Given the description of an element on the screen output the (x, y) to click on. 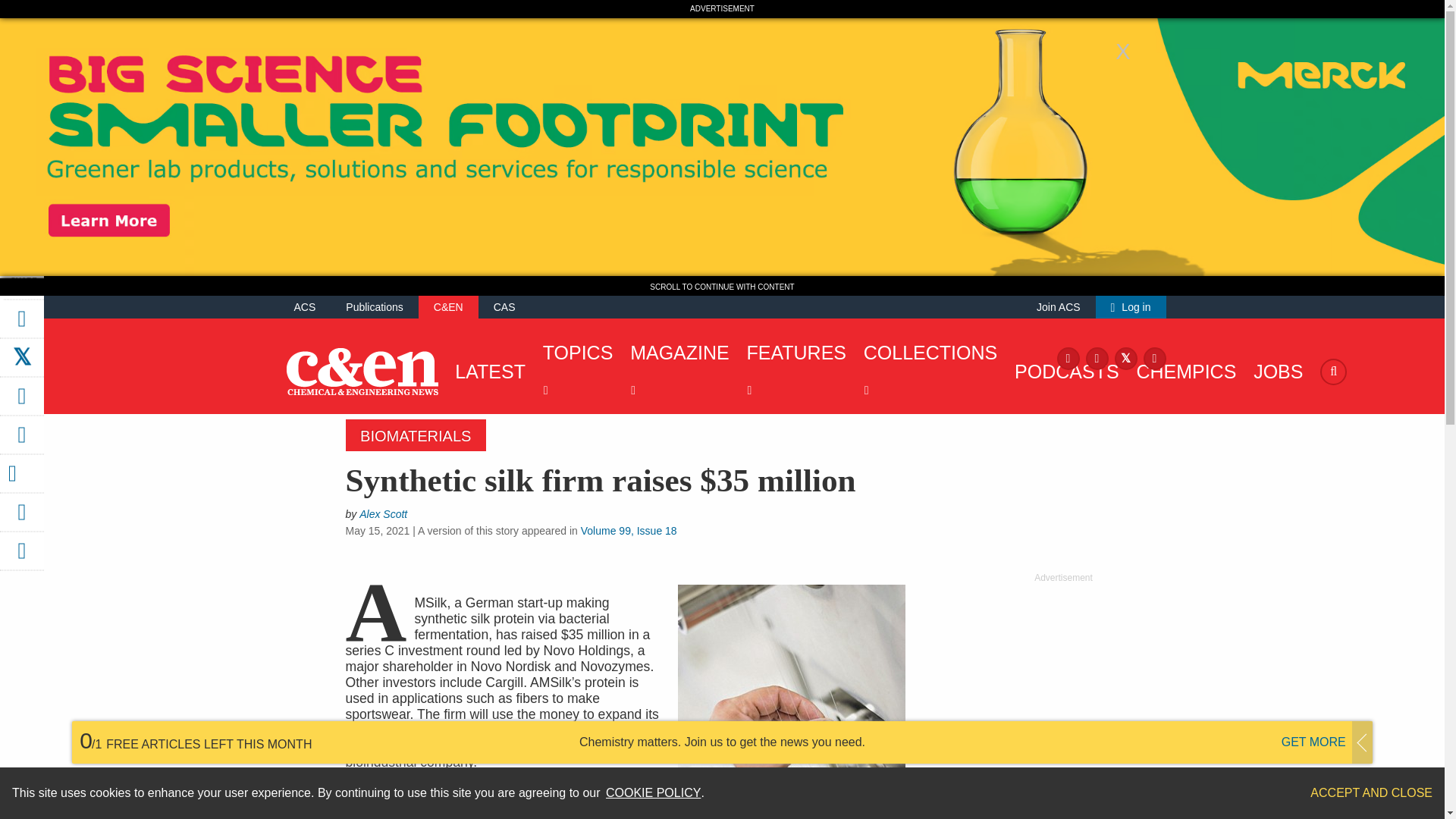
3rd party ad content (1062, 678)
CAS (504, 306)
Join ACS (1058, 306)
Publications (374, 306)
A photo of synthetic silk fiber being spun. (791, 701)
LATEST (485, 371)
X (1126, 357)
Facebook (1068, 357)
TOPICS (573, 371)
Log in (1130, 306)
LinkedIn (1154, 357)
ACS (304, 306)
Instagram (1097, 357)
